Given the description of an element on the screen output the (x, y) to click on. 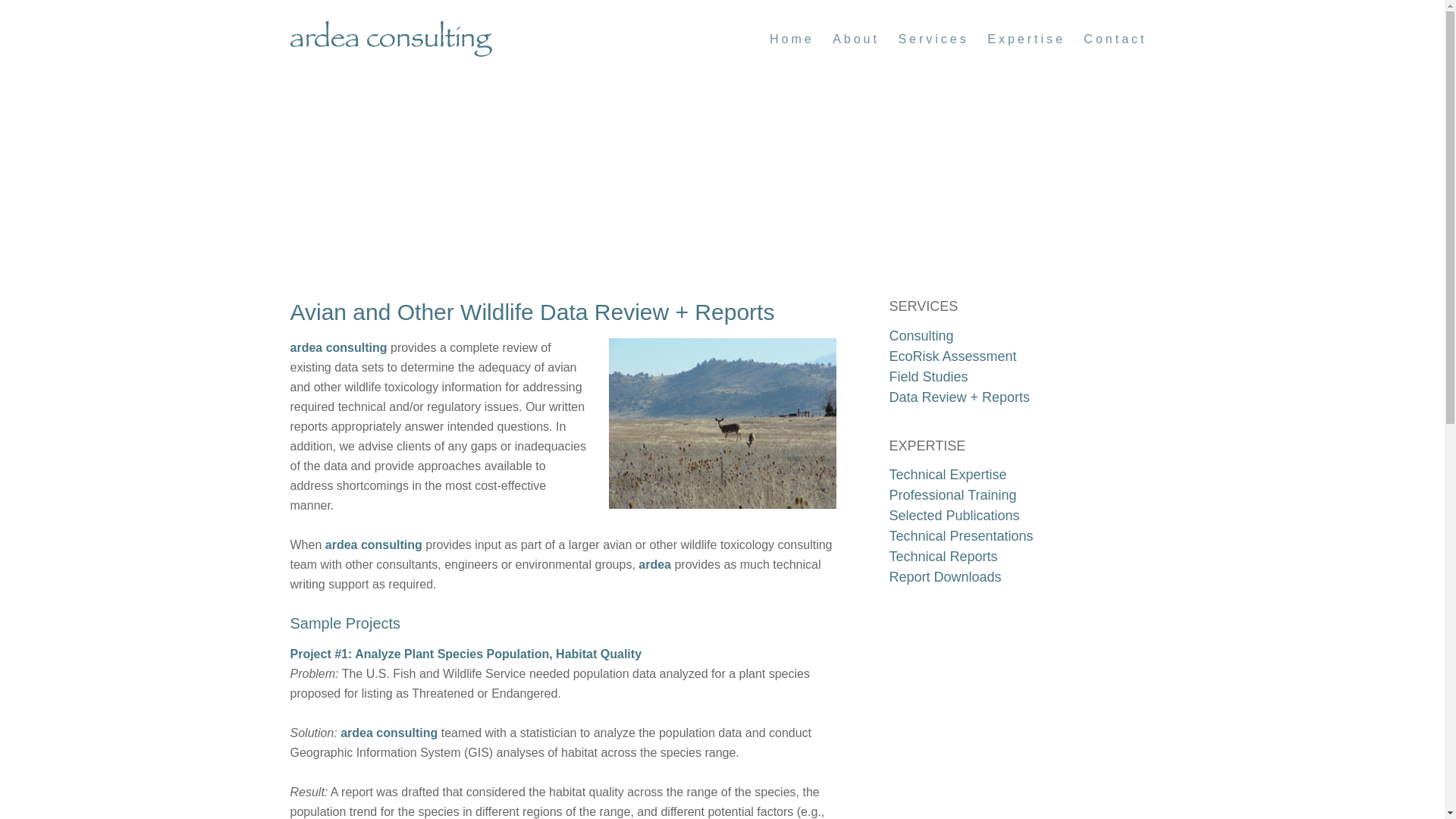
Expertise (1026, 39)
Consulting (920, 335)
Field Studies (928, 376)
Technical Presentations (960, 535)
Selected Publications (953, 515)
Home (791, 39)
EcoRisk Assessment (952, 355)
Technical Expertise (947, 474)
Contact (1114, 39)
Technical Reports (942, 556)
